Given the description of an element on the screen output the (x, y) to click on. 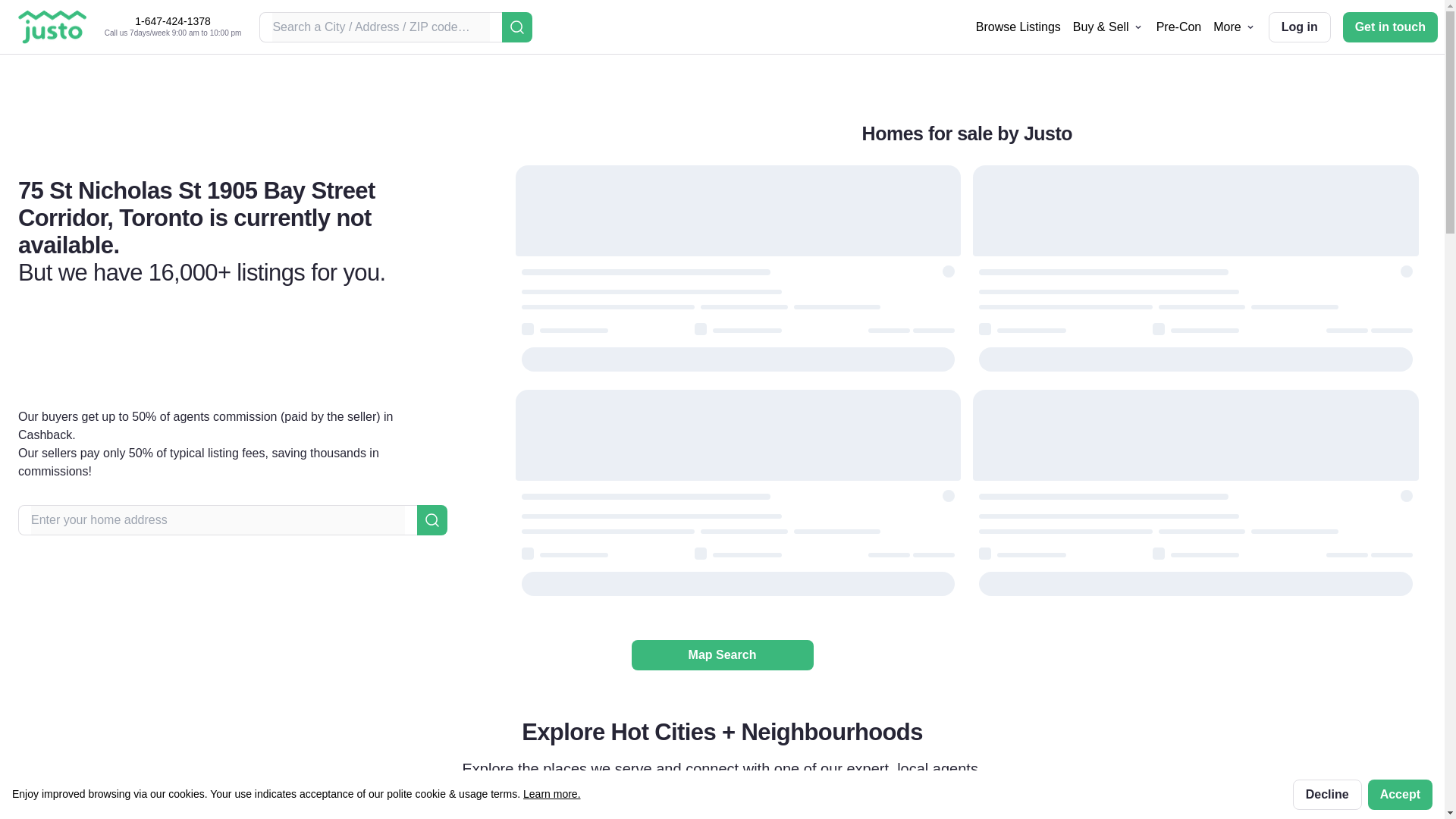
More (1233, 27)
Get in touch (1390, 27)
Pre-Con (1179, 25)
Log in (1299, 27)
Map Search (721, 654)
Browse Listings (1018, 25)
